Given the description of an element on the screen output the (x, y) to click on. 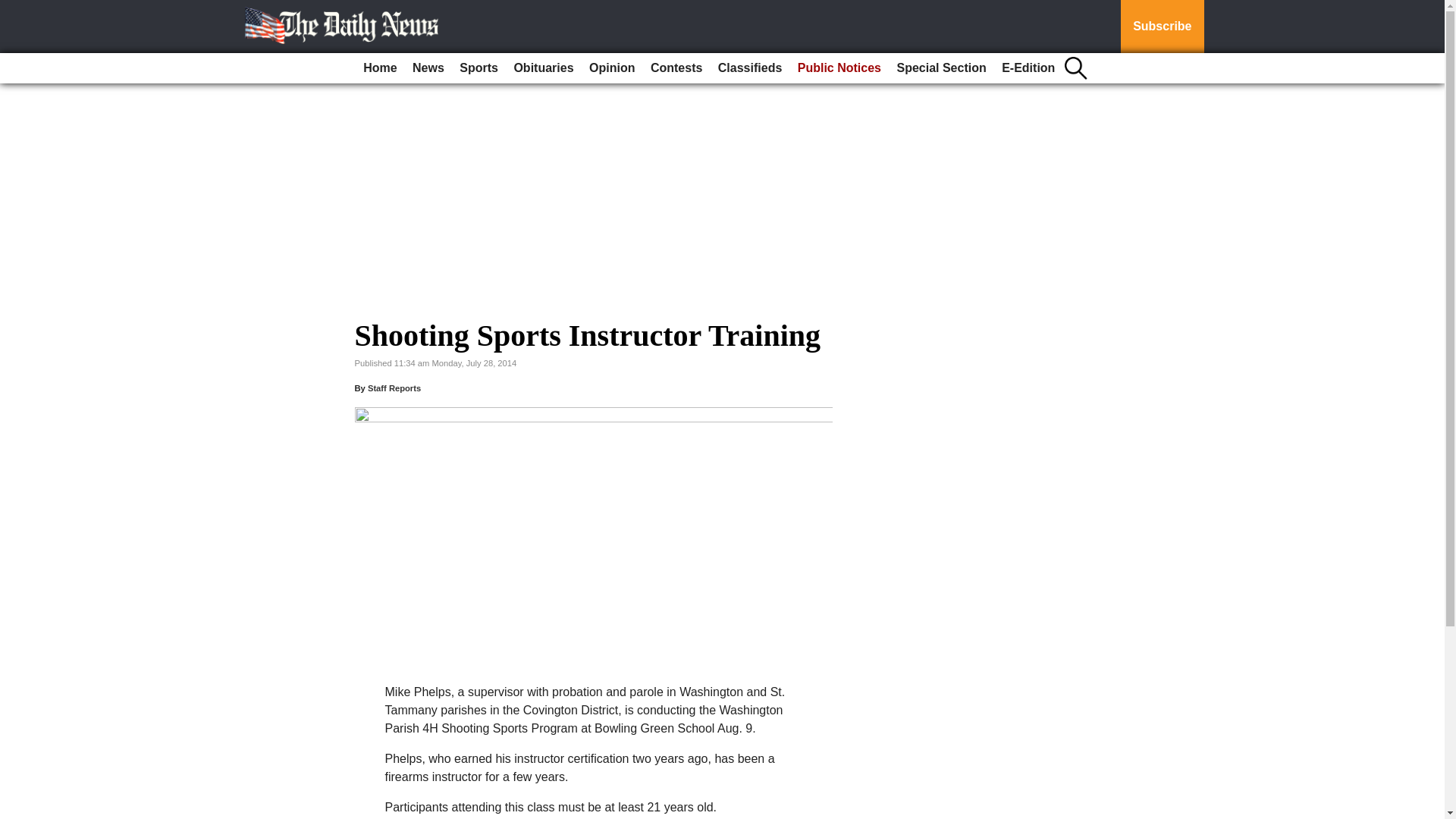
Public Notices (839, 68)
Opinion (611, 68)
Staff Reports (394, 388)
Obituaries (542, 68)
Subscribe (1162, 26)
Special Section (940, 68)
Go (13, 9)
E-Edition (1028, 68)
Contests (676, 68)
Home (379, 68)
